Given the description of an element on the screen output the (x, y) to click on. 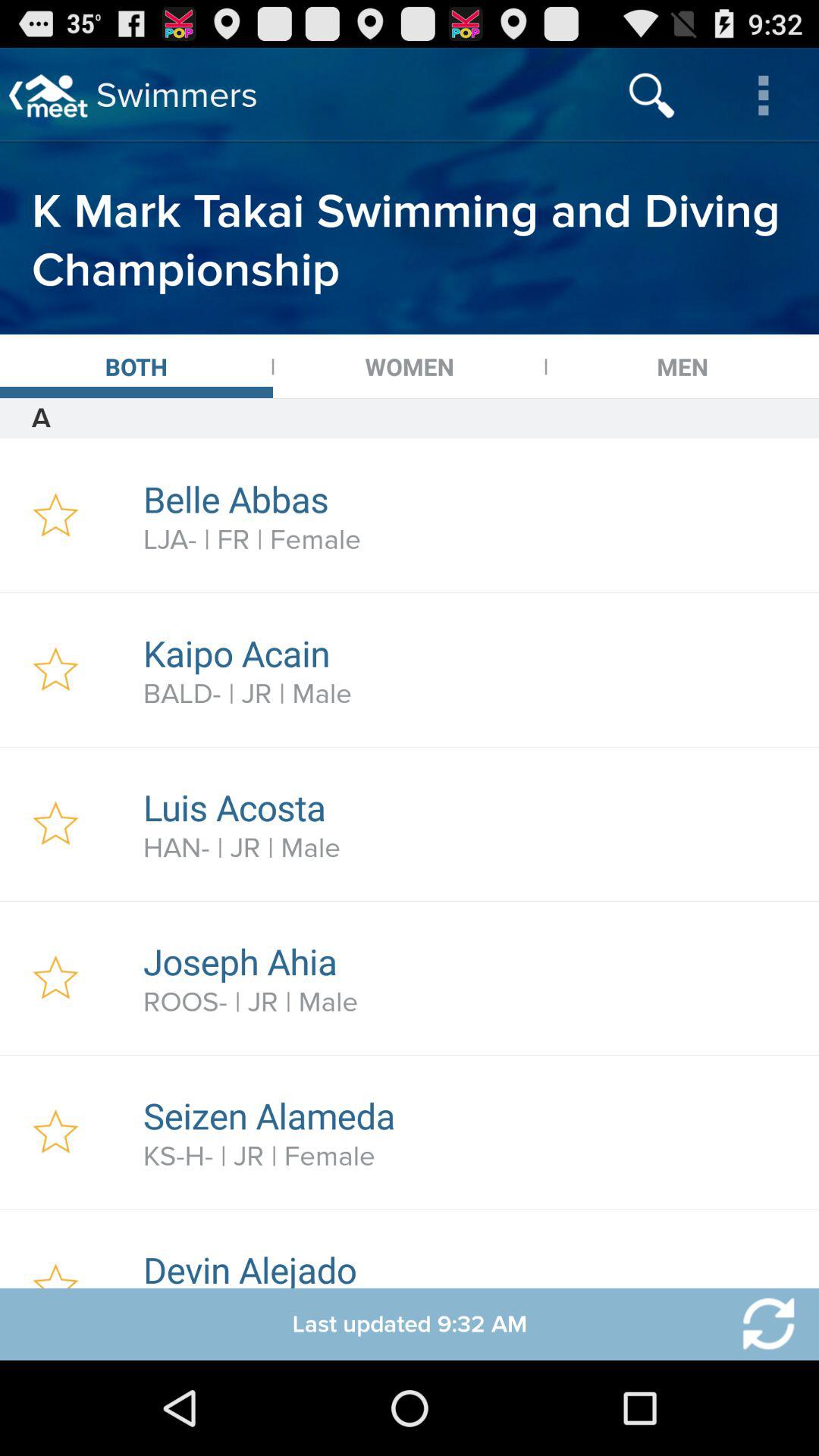
favourite (55, 978)
